Given the description of an element on the screen output the (x, y) to click on. 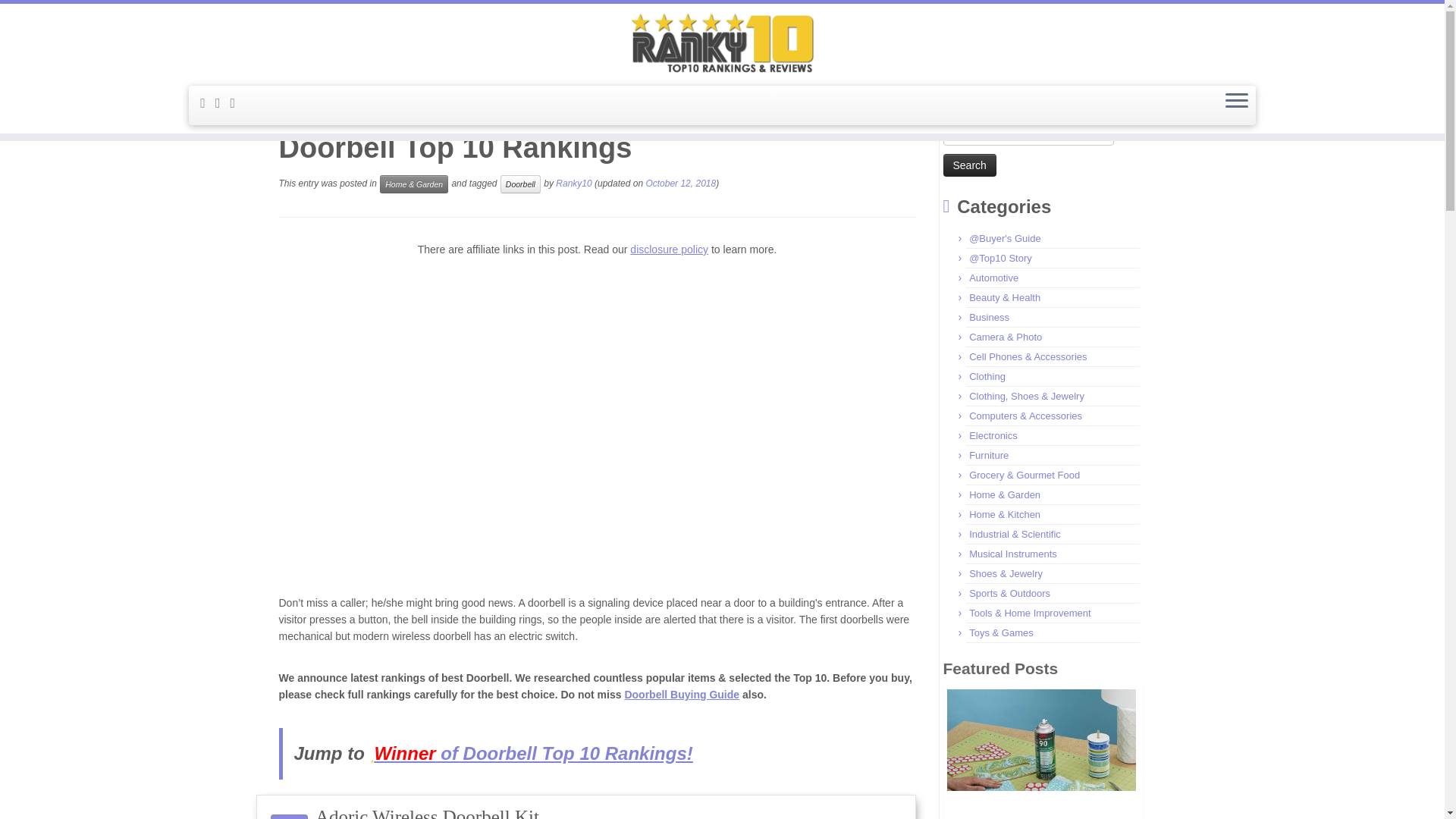
Doorbell (520, 184)
Doorbell Buying Guide (681, 694)
Search (969, 164)
Winner of Doorbell Top 10 Rankings! (531, 752)
Home (293, 105)
Open the menu (1236, 101)
View all posts by Ranky10 (573, 183)
1:30 pm (680, 183)
Ranky10 (293, 105)
Ranky10 (573, 183)
